Given the description of an element on the screen output the (x, y) to click on. 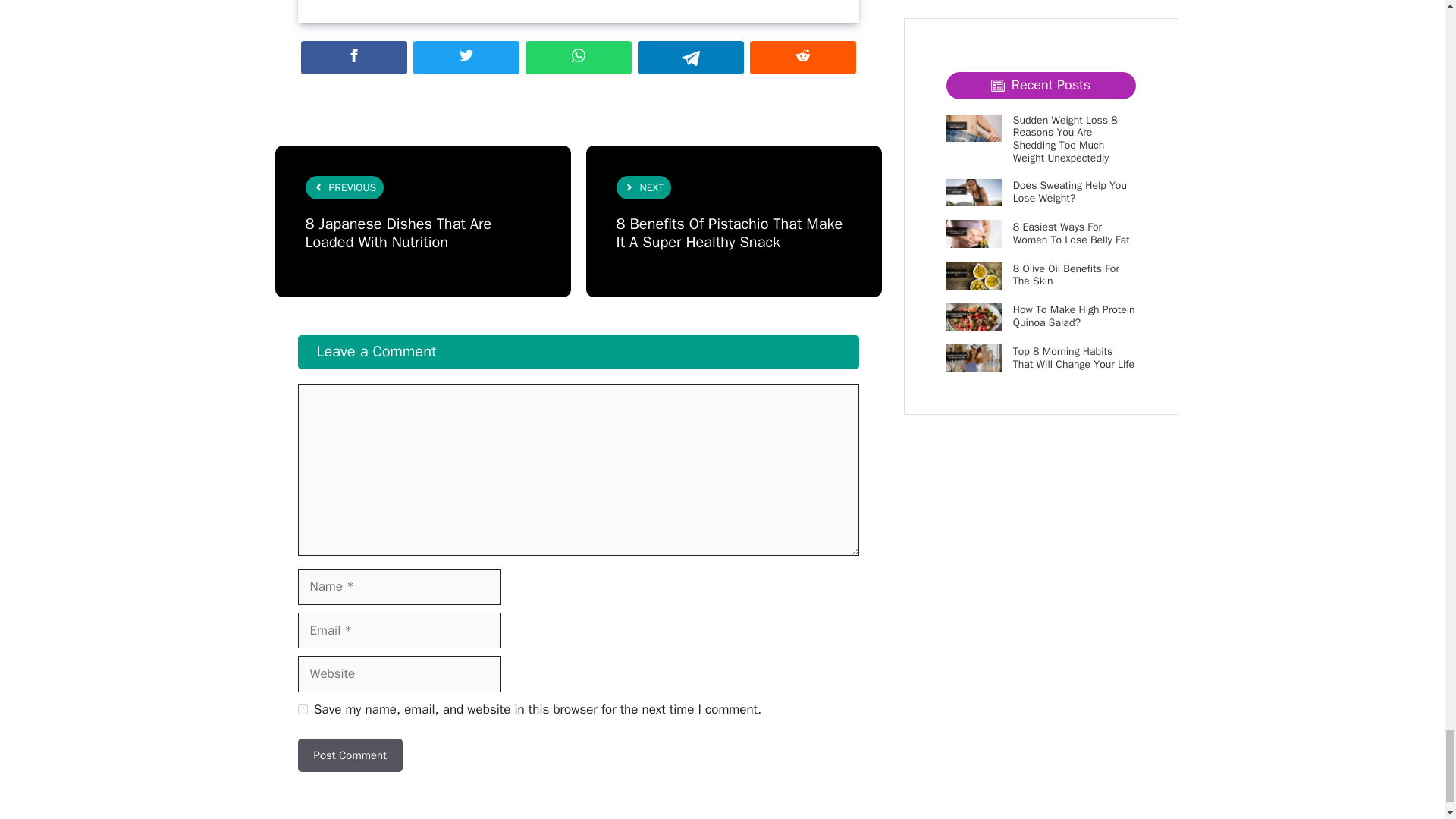
yes (302, 709)
Post Comment (349, 755)
